Given the description of an element on the screen output the (x, y) to click on. 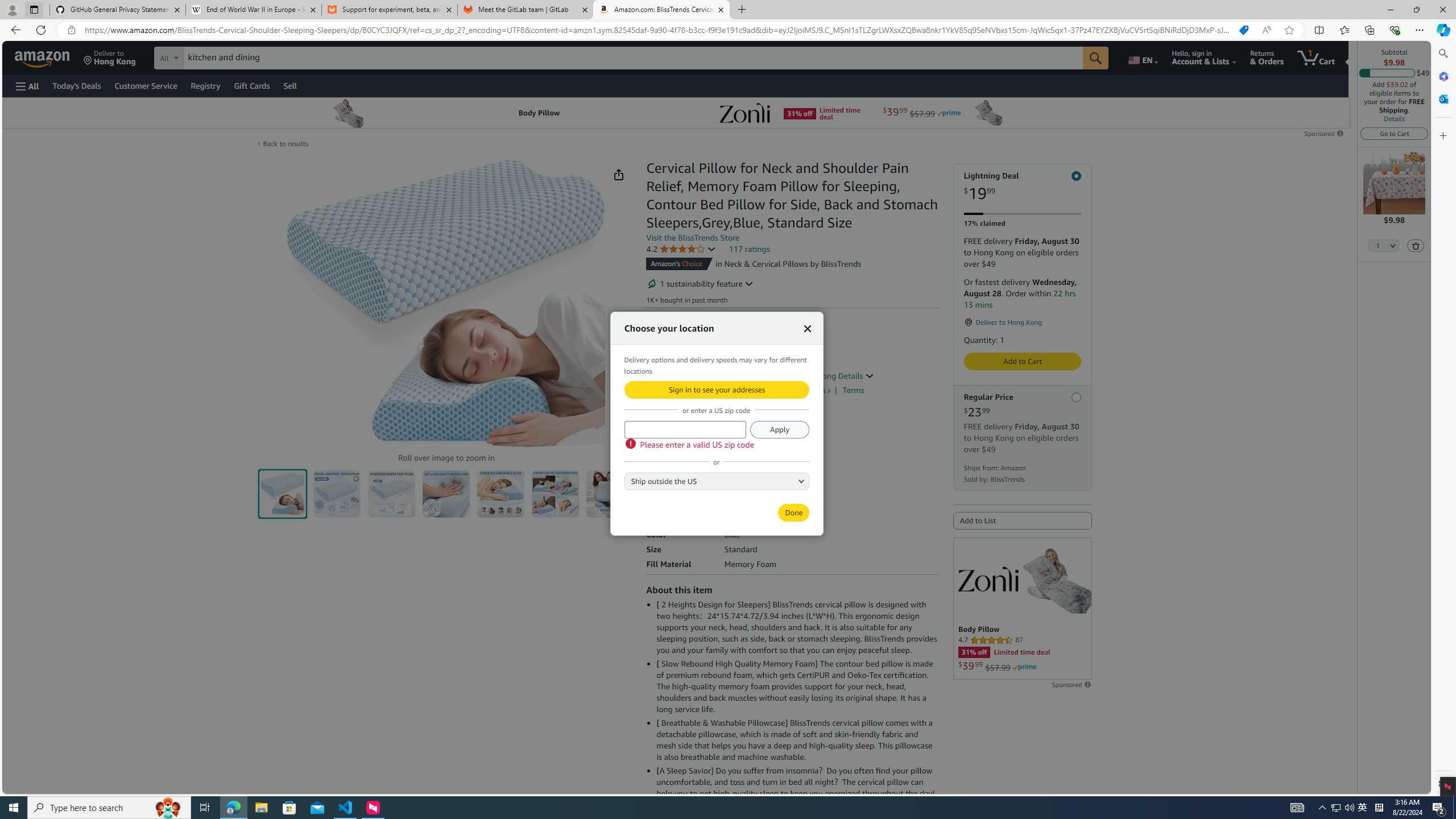
Blue (657, 432)
Shop items (806, 389)
Sustainability features 1 sustainability feature  (700, 283)
King (756, 479)
4.2 4.2 out of 5 stars (681, 248)
Choose a language for shopping. (1142, 57)
Go (1096, 57)
Registry (205, 85)
End of World War II in Europe - Wikipedia (253, 9)
Pink (711, 433)
Delete (1415, 245)
Grey (684, 433)
